Given the description of an element on the screen output the (x, y) to click on. 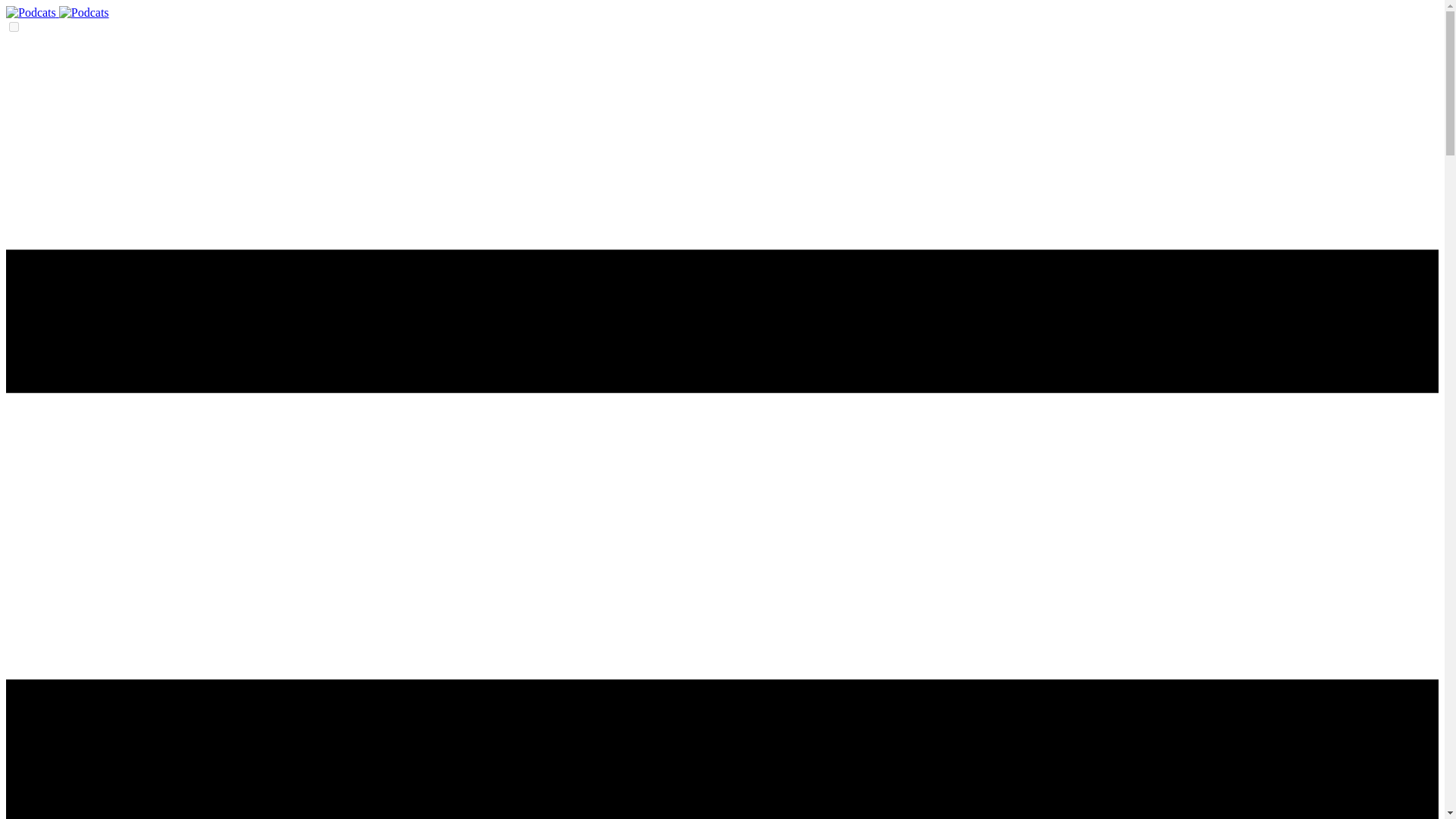
on (13, 26)
